Given the description of an element on the screen output the (x, y) to click on. 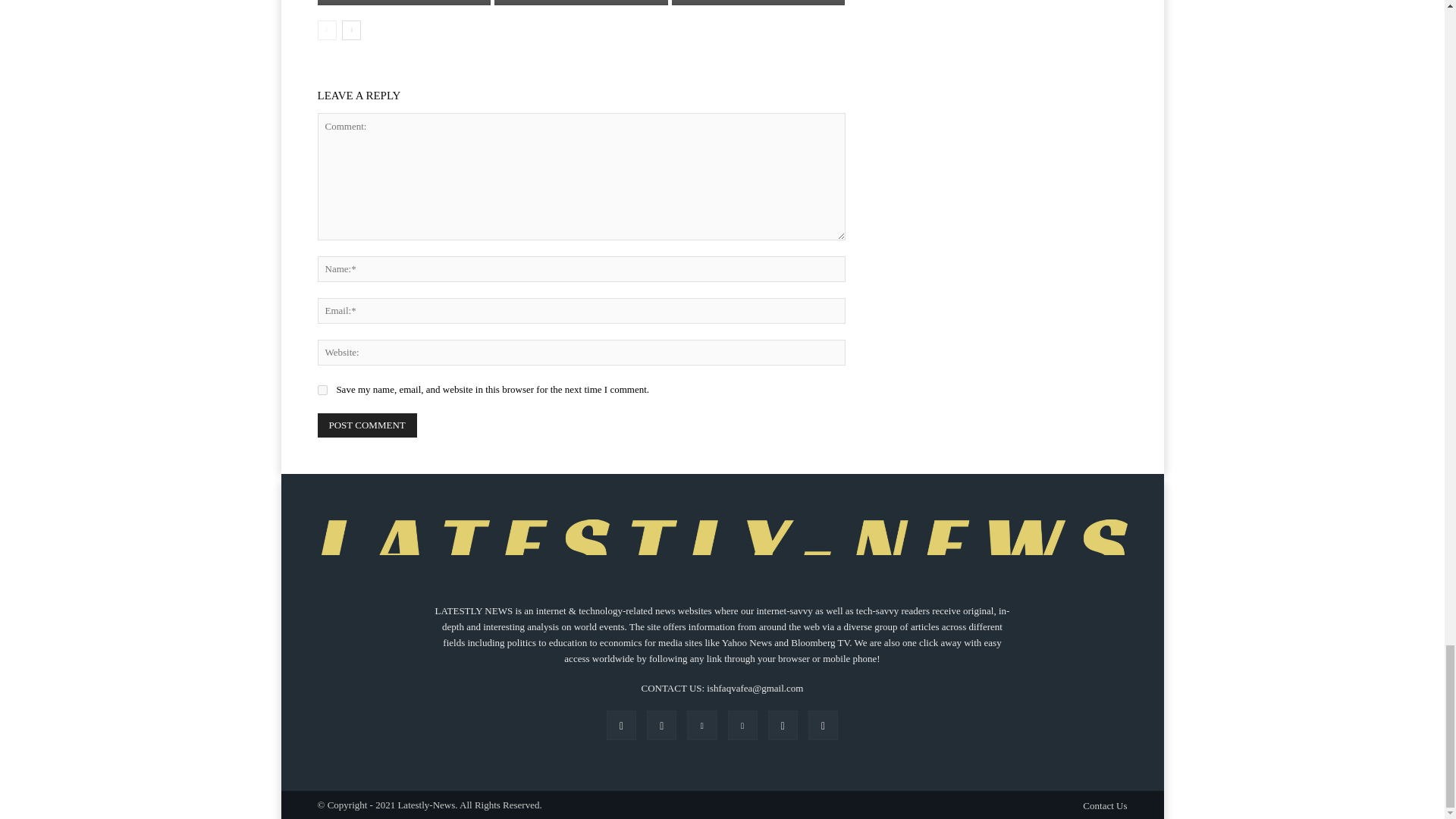
yes (321, 389)
Post Comment (366, 425)
